Given the description of an element on the screen output the (x, y) to click on. 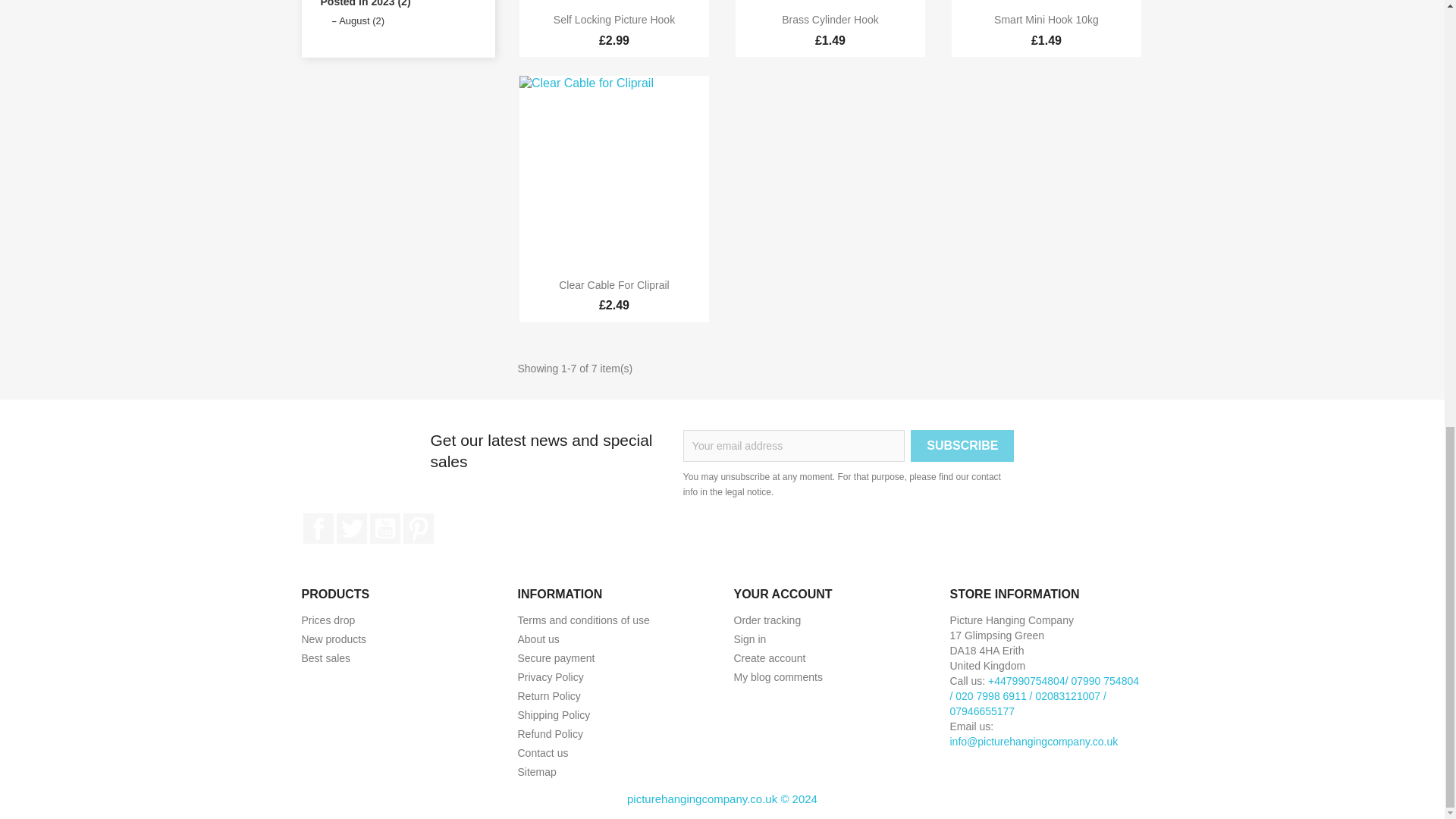
Order tracking (767, 620)
Create account (769, 657)
Our secure payment method (555, 657)
Subscribe (962, 445)
Learn more about us (537, 639)
Our best sales (325, 657)
Our special products (328, 620)
Our terms and conditions of use (582, 620)
Log in to your customer account (750, 639)
